Given the description of an element on the screen output the (x, y) to click on. 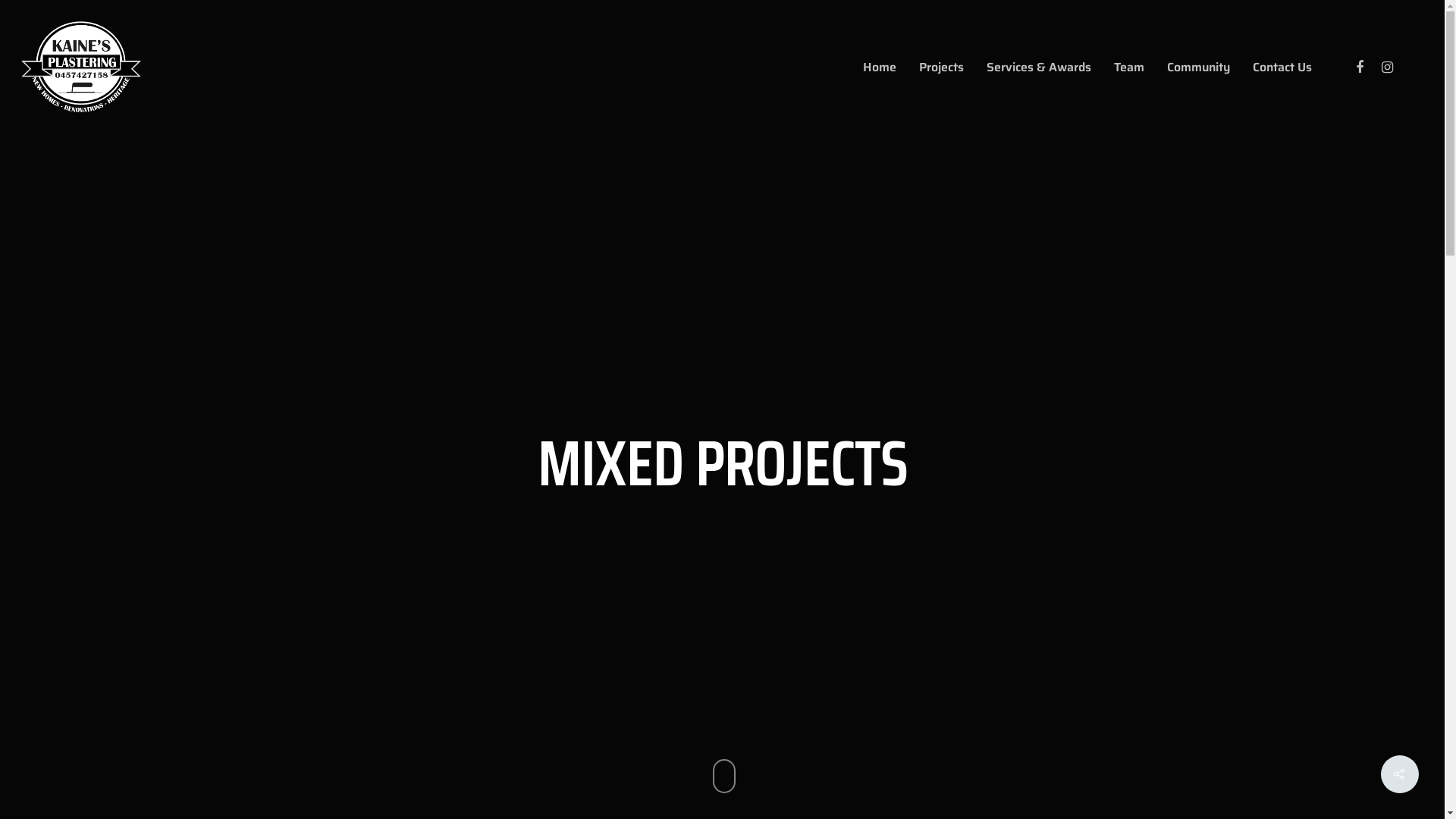
Team Element type: text (1128, 66)
Services & Awards Element type: text (894, 648)
BROKENIMAGE Creative Element type: text (445, 795)
Projects Element type: text (941, 66)
Contact Us Element type: text (1282, 66)
Home Element type: text (879, 66)
Home Element type: text (894, 611)
Community Element type: text (894, 684)
Community Element type: text (1198, 66)
Services & Awards Element type: text (1038, 66)
admin@kainesplastering.com.au Element type: text (1082, 629)
Team Element type: text (894, 666)
Projects Element type: text (894, 630)
Contact Us Element type: text (894, 702)
